Given the description of an element on the screen output the (x, y) to click on. 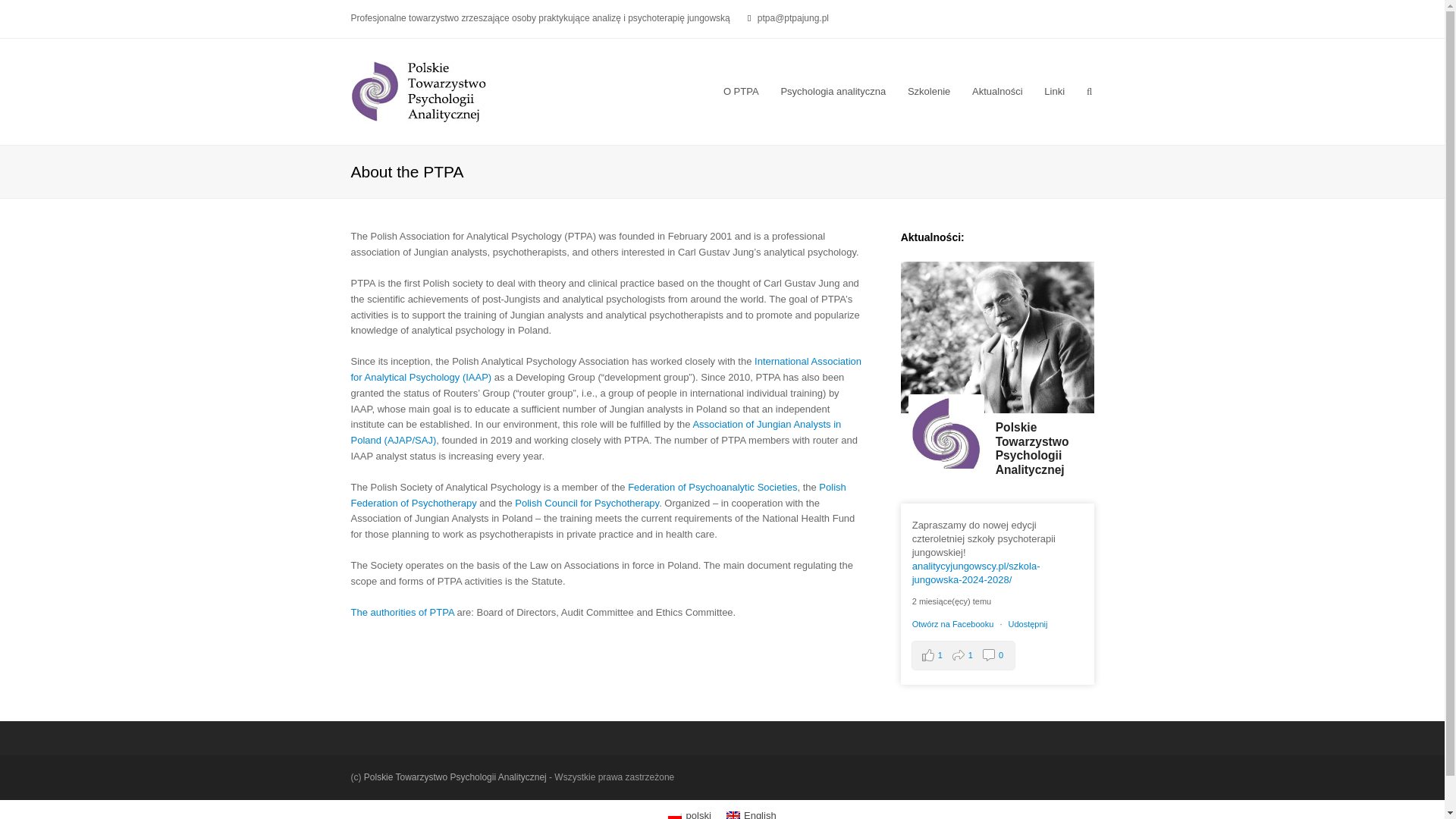
Polskie Towarzystwo Psychologii Analitycznej (421, 90)
English (732, 815)
The authorities of PTPA (401, 612)
Polish Federation of Psychotherapy (597, 494)
Psychologia analityczna (833, 91)
Szkolenie (928, 91)
Polskie Towarzystwo Psychologii Analitycznej (1044, 449)
Linki (1054, 91)
Polskie Towarzystwo Psychologii Analitycznej (1044, 449)
O PTPA (741, 91)
